Given the description of an element on the screen output the (x, y) to click on. 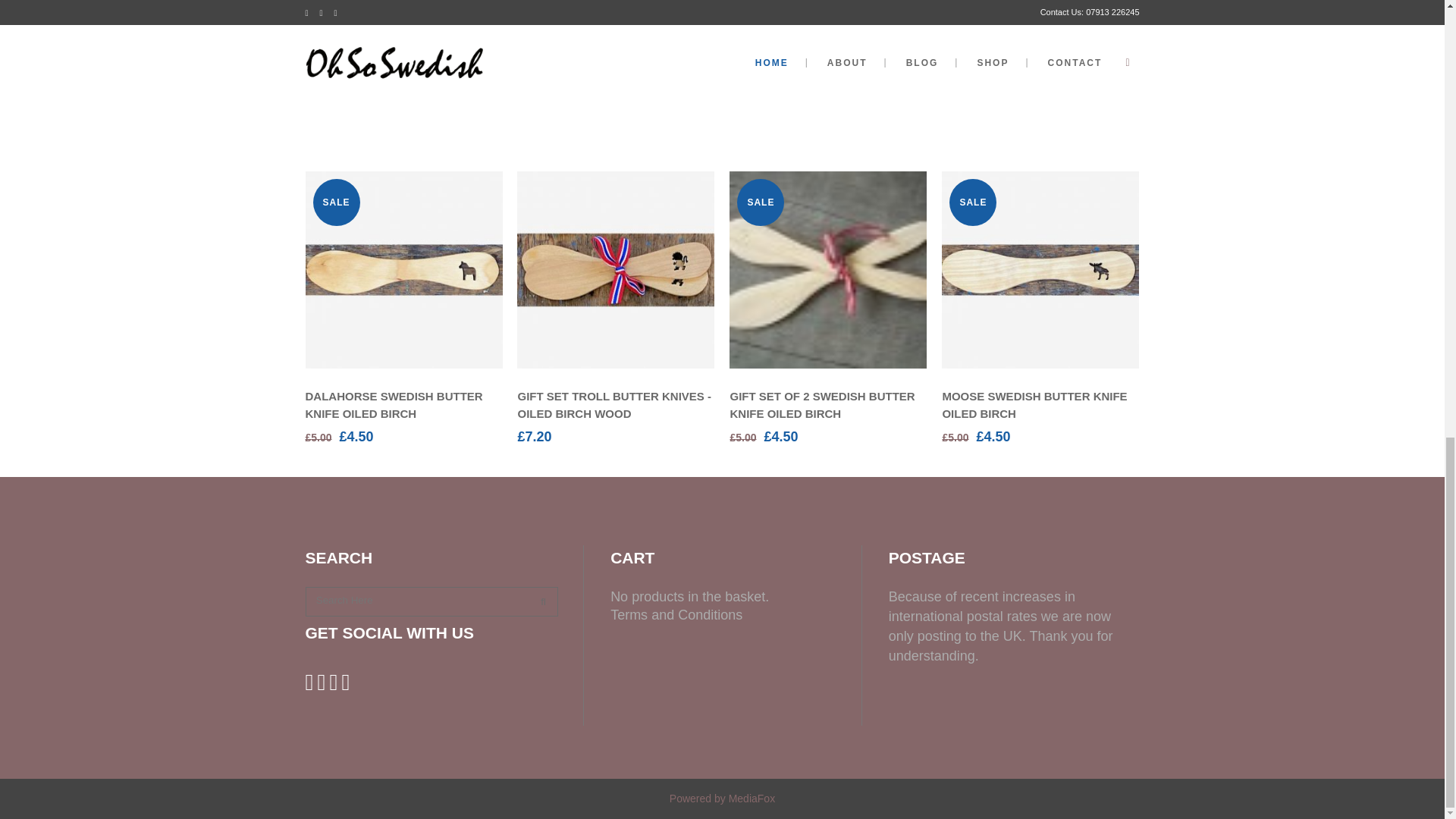
SALE (403, 269)
SALE (827, 269)
SALE (1040, 269)
